Given the description of an element on the screen output the (x, y) to click on. 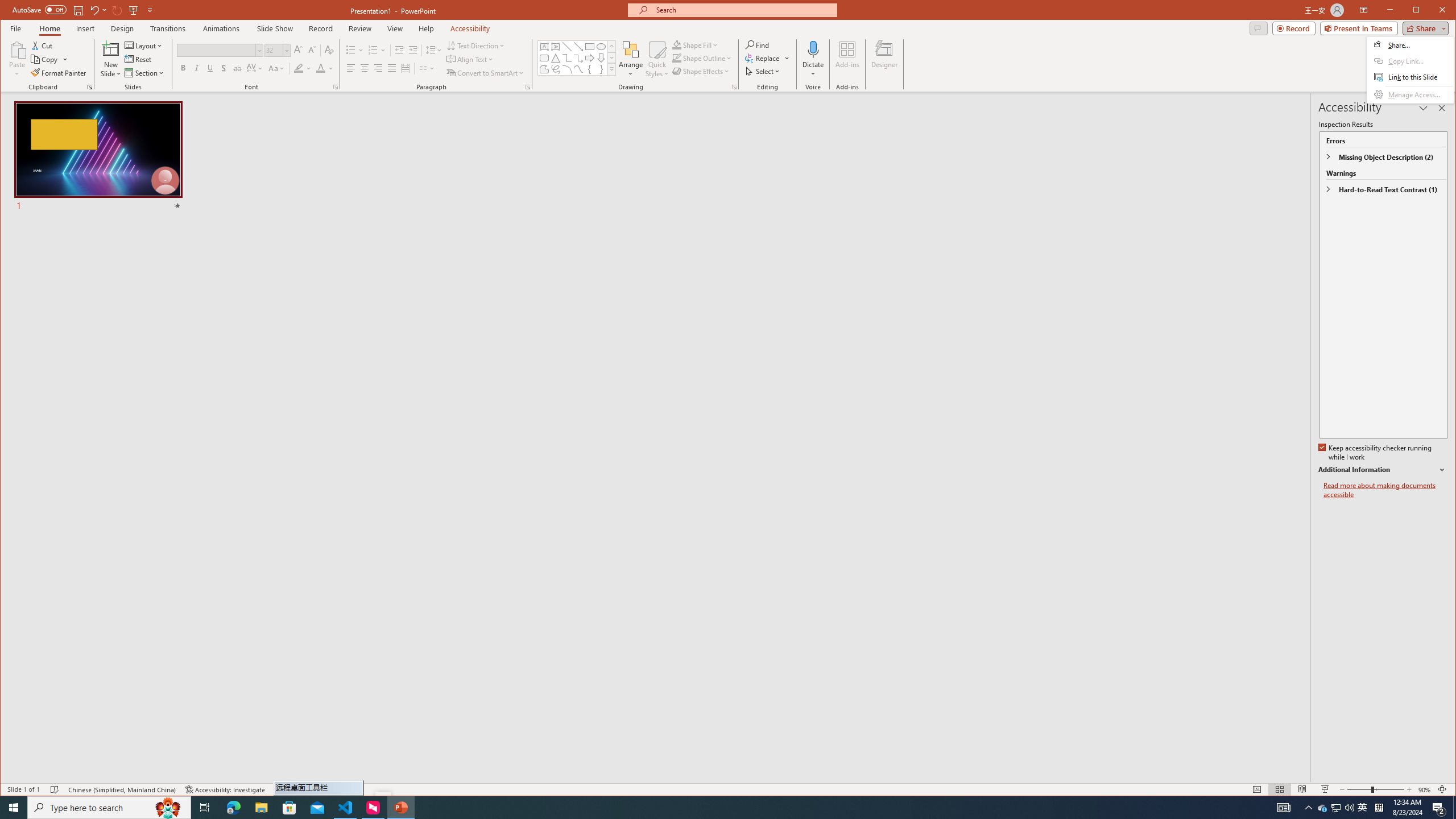
Distributed (405, 68)
Arc (567, 69)
Visual Studio Code - 1 running window (345, 807)
Microsoft Store (289, 807)
Font Color (324, 68)
Tray Input Indicator - Chinese (Simplified, China) (1378, 807)
Microsoft Edge (233, 807)
AutomationID: ShapesInsertGallery (577, 57)
Task View (204, 807)
File Explorer (261, 807)
